Given the description of an element on the screen output the (x, y) to click on. 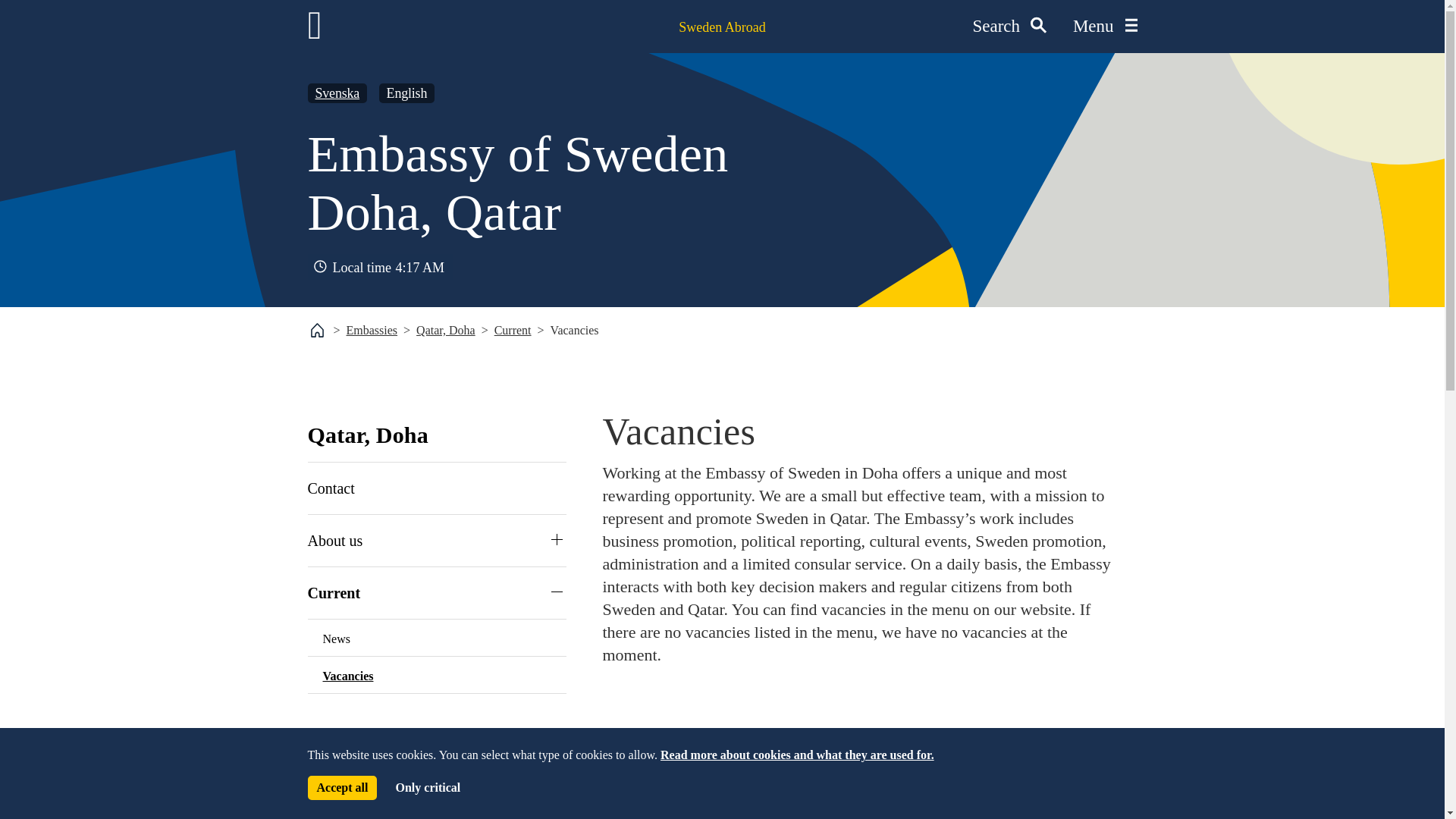
Read more about cookies and what they are used for. (797, 754)
Accept all (342, 787)
Sweden Abroad (721, 27)
Menu (1105, 26)
Search (1008, 26)
Only critical (427, 787)
